Given the description of an element on the screen output the (x, y) to click on. 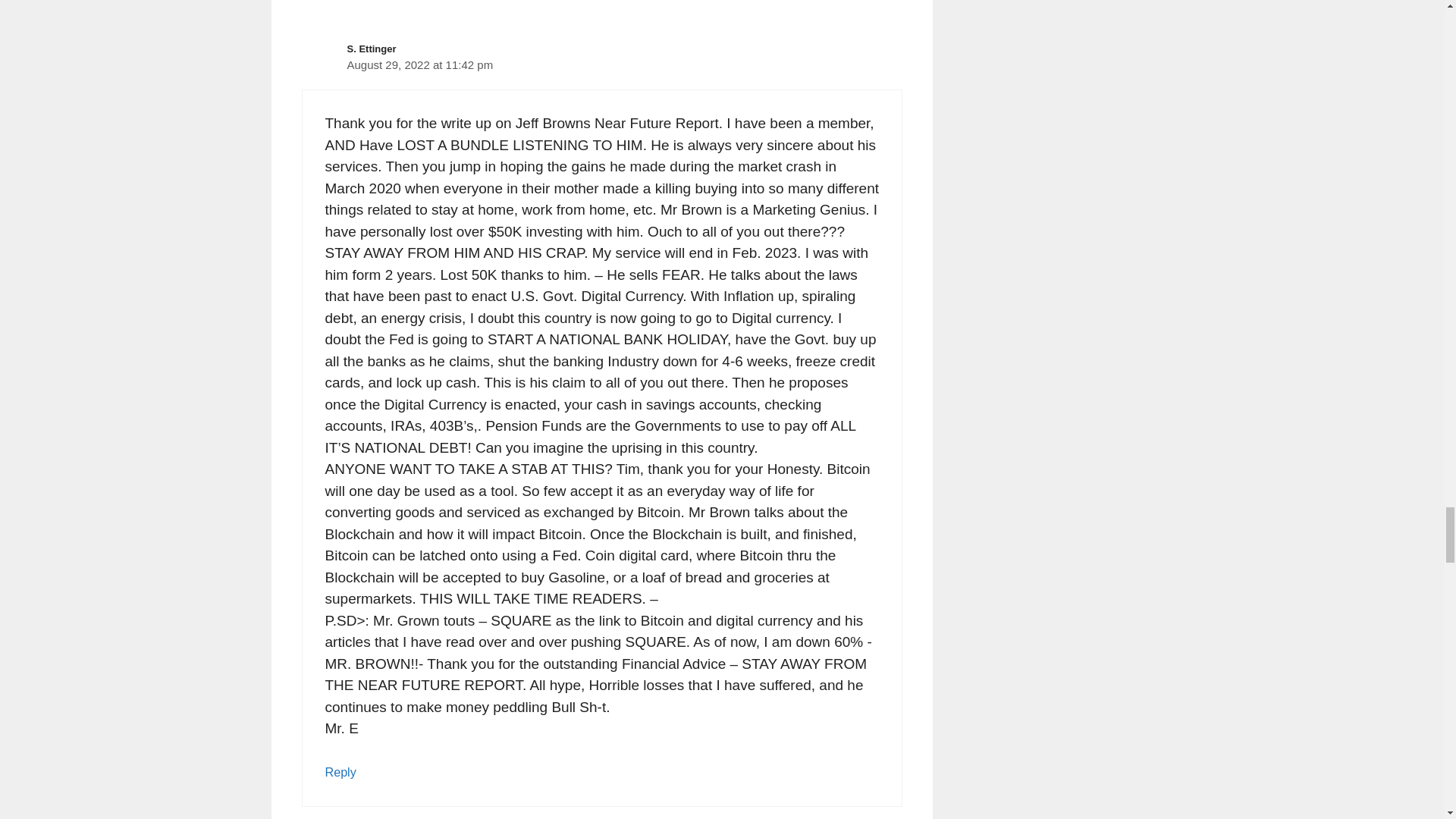
August 29, 2022 at 11:42 pm (420, 63)
Reply (339, 771)
